Given the description of an element on the screen output the (x, y) to click on. 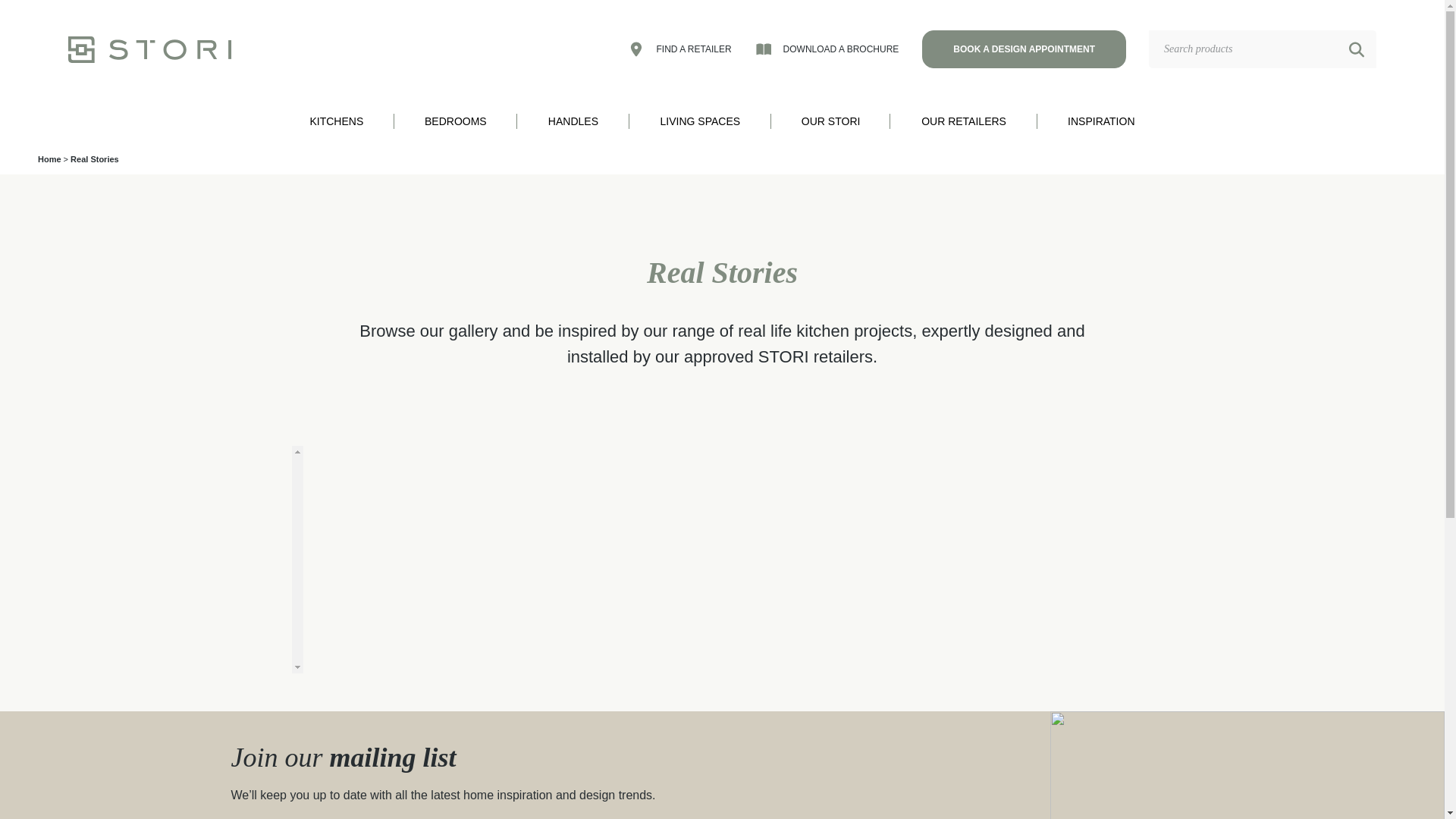
KITCHENS (336, 120)
BOOK A DESIGN APPOINTMENT (1023, 48)
FIND A RETAILER (679, 48)
DOWNLOAD A BROCHURE (827, 48)
